Given the description of an element on the screen output the (x, y) to click on. 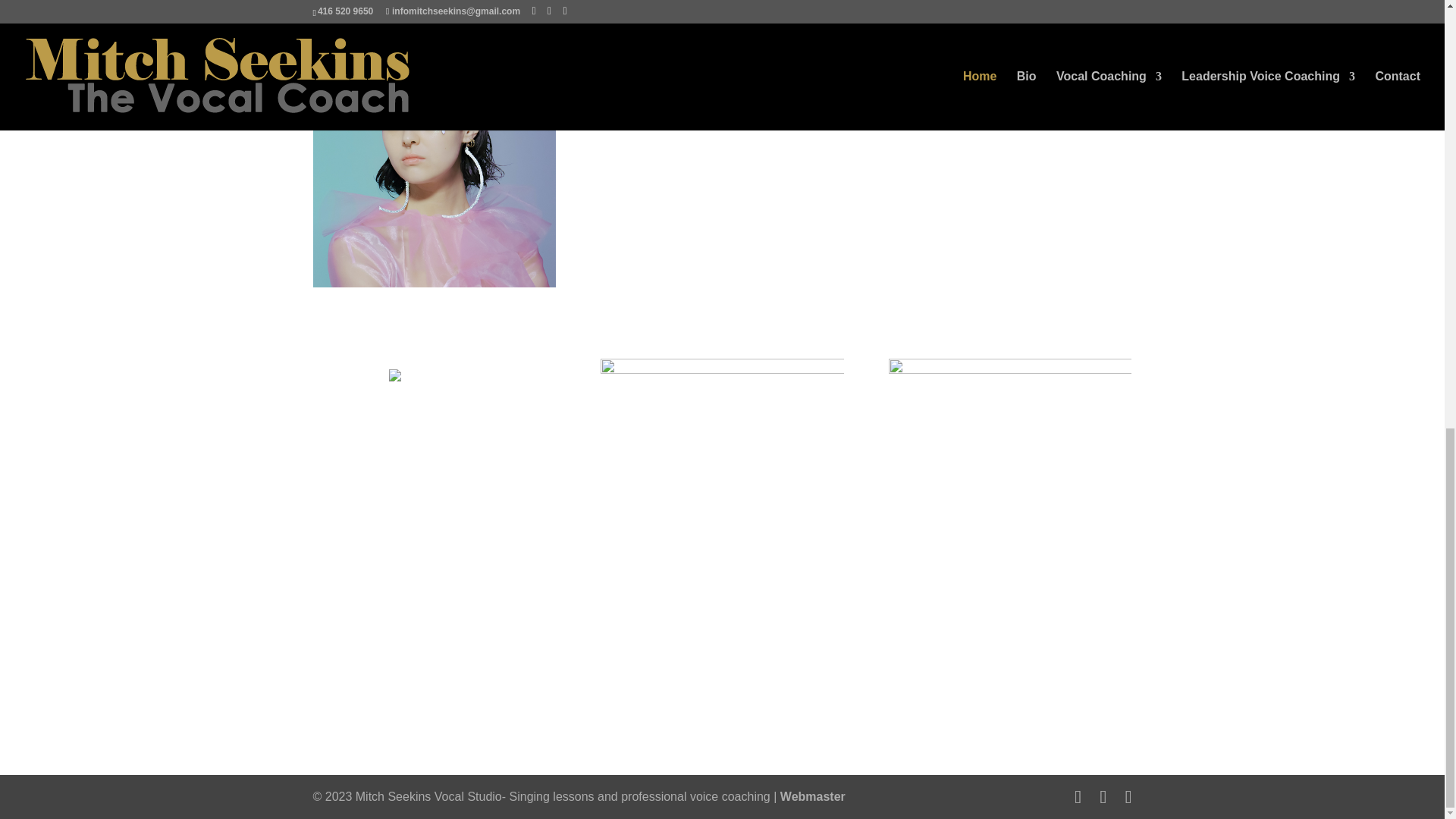
Webmaster (812, 796)
Follow on Youtube (430, 685)
Follow on Instagram (464, 685)
Follow on Facebook (397, 685)
